Given the description of an element on the screen output the (x, y) to click on. 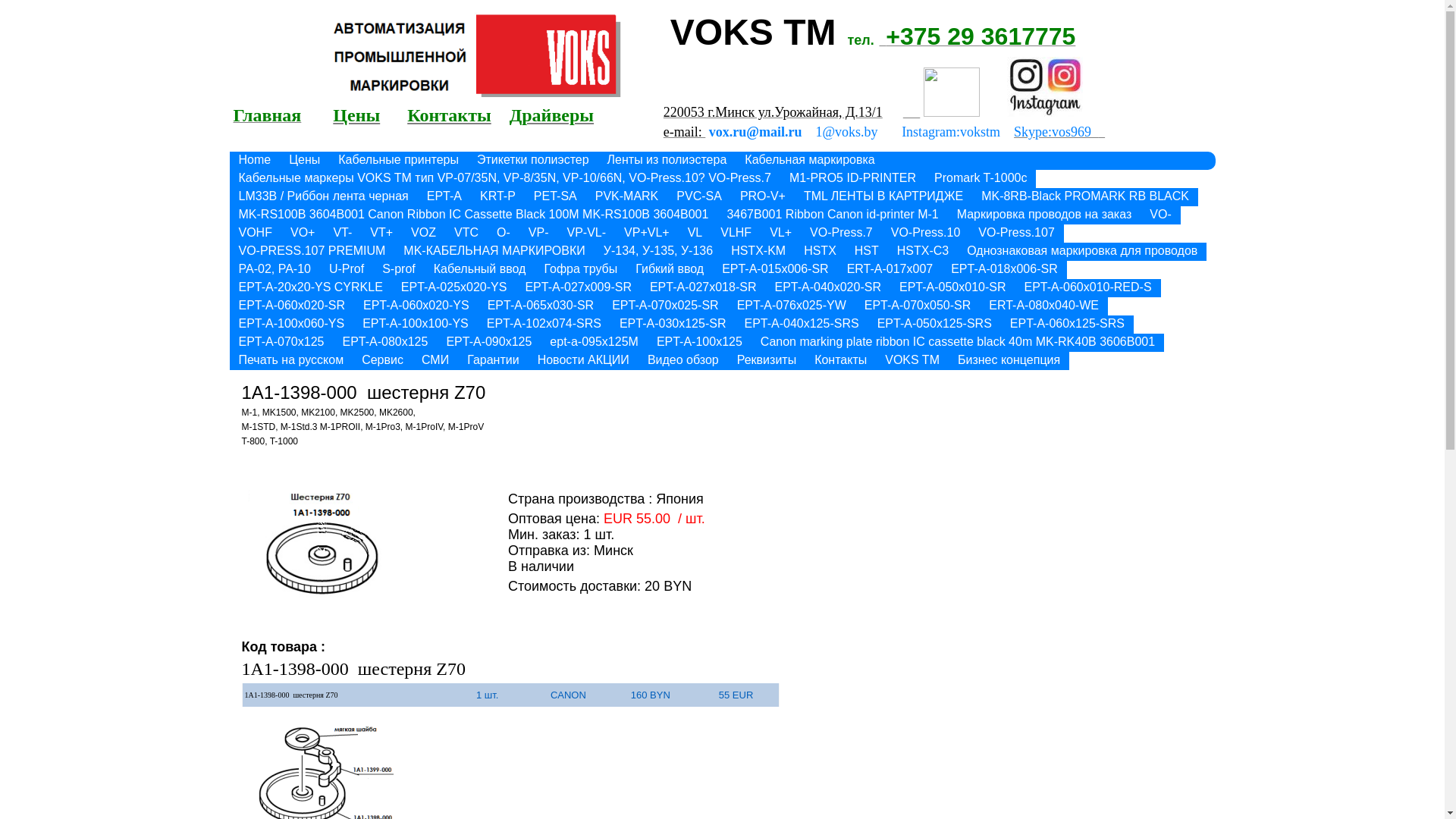
VO-Press.7 Element type: text (840, 233)
EPT-A-090x125 Element type: text (488, 342)
VO- Element type: text (1159, 215)
PET-SA Element type: text (555, 197)
KRT-P Element type: text (497, 197)
MK-8RB-Black PROMARK RB BLACK Element type: text (1085, 197)
EPT-A-060x010-RED-S Element type: text (1087, 288)
Home Element type: text (254, 160)
EPT-A-050x125-SRS Element type: text (934, 324)
VTC Element type: text (466, 233)
PRO-V+ Element type: text (762, 197)
EPT-A-060x125-SRS Element type: text (1067, 324)
VP-VL- Element type: text (586, 233)
VLHF Element type: text (735, 233)
EPT-A-102x074-SRS Element type: text (543, 324)
VL Element type: text (695, 233)
VO+ Element type: text (302, 233)
1@voks.by Element type: text (846, 131)
PVC-SA Element type: text (699, 197)
VT+ Element type: text (380, 233)
EPT-A-027x009-SR Element type: text (577, 288)
EPT-A-100x060-YS Element type: text (291, 324)
EPT-A-015x006-SR Element type: text (774, 269)
VO-Press.10 Element type: text (925, 233)
VL+ Element type: text (780, 233)
EPT-A-070x050-SR Element type: text (917, 306)
EPT-A-070x025-SR Element type: text (665, 306)
S-prof Element type: text (398, 269)
EPT-A-100x125 Element type: text (699, 342)
VOKS TM Element type: text (911, 360)
vox.ru@mail.ru Element type: text (755, 131)
EPT-A-076x025-YW Element type: text (791, 306)
U-Prof Element type: text (346, 269)
EPT-A-080x125 Element type: text (384, 342)
EPT-A-065x030-SR Element type: text (540, 306)
VO-PRESS.107 PREMIUM Element type: text (311, 251)
EPT-A-100x100-YS Element type: text (415, 324)
HSTX-C3 Element type: text (922, 251)
EPT-A-20x20-YS CYRKLE Element type: text (310, 288)
 +375 29 3617775 Element type: text (976, 39)
EPT-A-040x020-SR Element type: text (827, 288)
EPT-A-025x020-YS Element type: text (454, 288)
EPT-A-060x020-YS Element type: text (416, 306)
EPT-A-030x125-SR Element type: text (672, 324)
EPT-A-050x010-SR Element type: text (952, 288)
EPT-A-018x006-SR Element type: text (1003, 269)
VP- Element type: text (538, 233)
VT- Element type: text (341, 233)
EPT-A-070x125 Element type: text (280, 342)
Skype:vos969    Element type: text (1058, 131)
ept-a-095x125M Element type: text (593, 342)
ERT-A-017x007 Element type: text (889, 269)
VOZ Element type: text (423, 233)
EPT-A-060x020-SR Element type: text (291, 306)
ERT-A-080x040-WE Element type: text (1043, 306)
VP+VL+ Element type: text (646, 233)
      Element type: text (911, 111)
O- Element type: text (503, 233)
PA-02, PA-10 Element type: text (274, 269)
e-mail: Element type: text (684, 131)
EPT-A Element type: text (443, 197)
EPT-A-027x018-SR Element type: text (702, 288)
EPT-A-040x125-SRS Element type: text (800, 324)
VOHF Element type: text (254, 233)
HSTX Element type: text (819, 251)
PVK-MARK Element type: text (627, 197)
VO-Press.107 Element type: text (1016, 233)
HSTX-KM Element type: text (757, 251)
M1-PRO5 ID-PRINTER Element type: text (852, 178)
HST Element type: text (866, 251)
3467B001 Ribbon Canon id-printer M-1 Element type: text (832, 215)
Promark T-1000c Element type: text (980, 178)
